Given the description of an element on the screen output the (x, y) to click on. 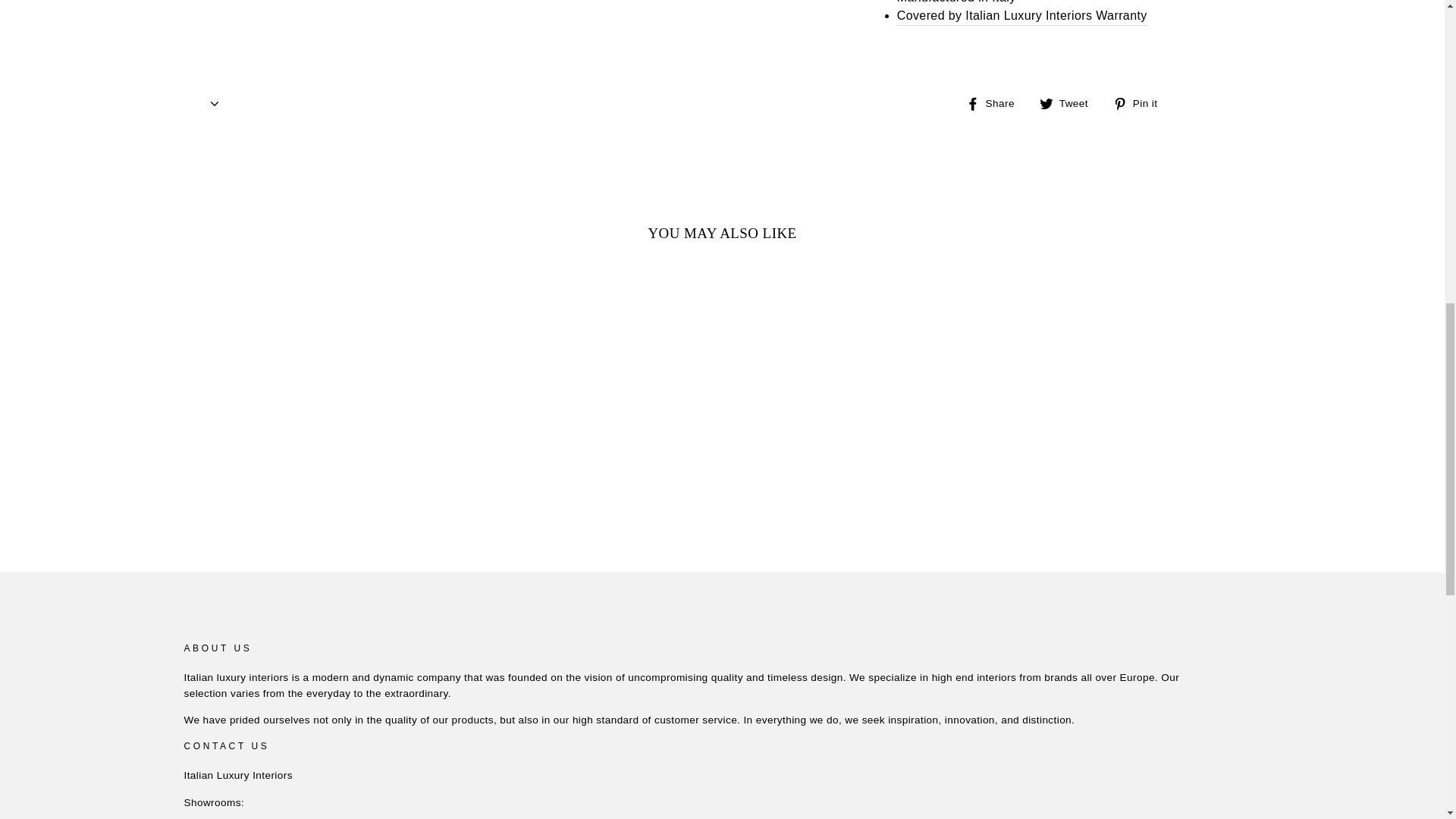
Share on Facebook (996, 103)
Tweet on Twitter (1069, 103)
Pin on Pinterest (1141, 103)
